Given the description of an element on the screen output the (x, y) to click on. 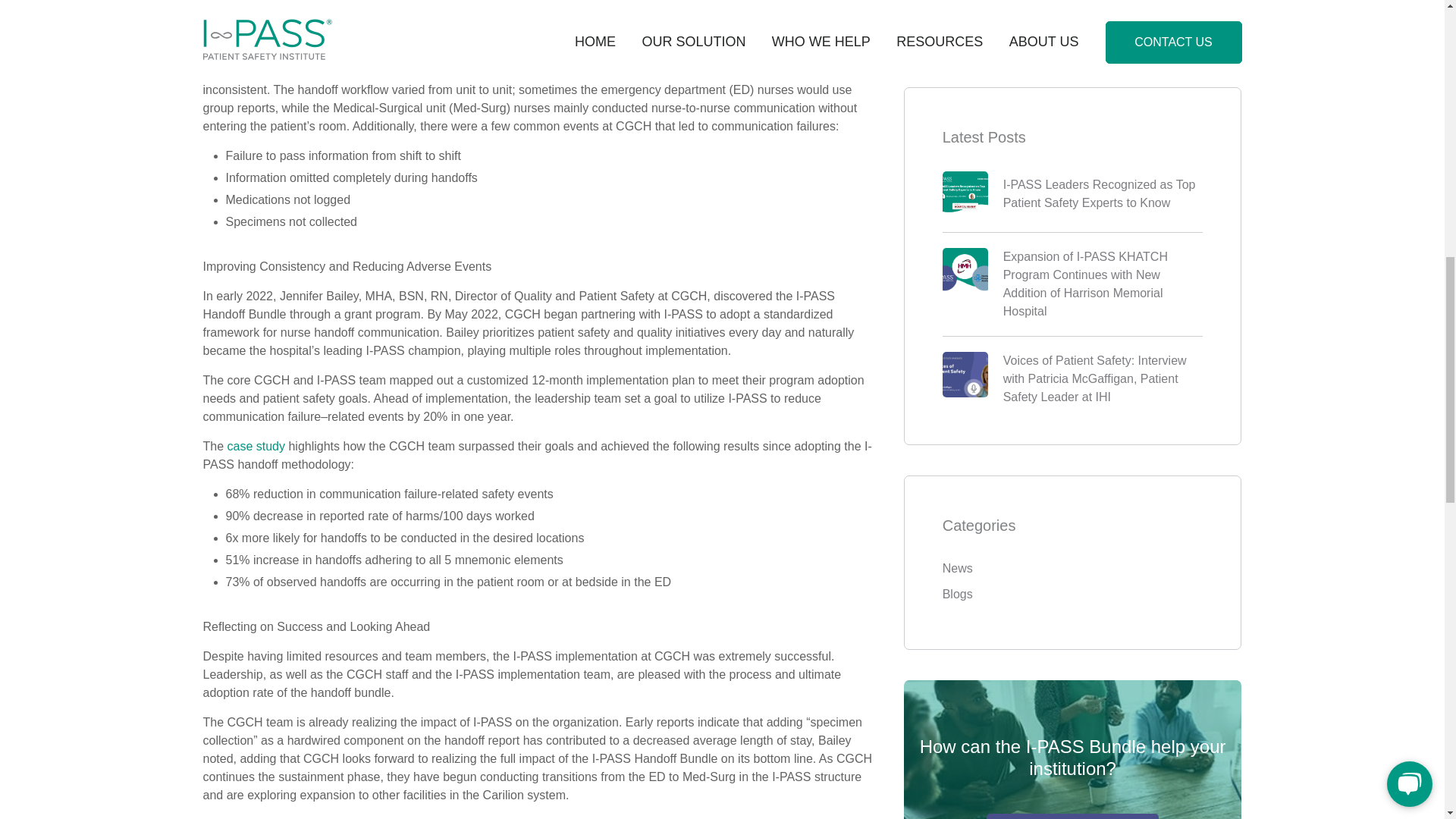
Request a Demo (1072, 88)
REQUEST A DEMO (1072, 88)
case study (256, 445)
